Given the description of an element on the screen output the (x, y) to click on. 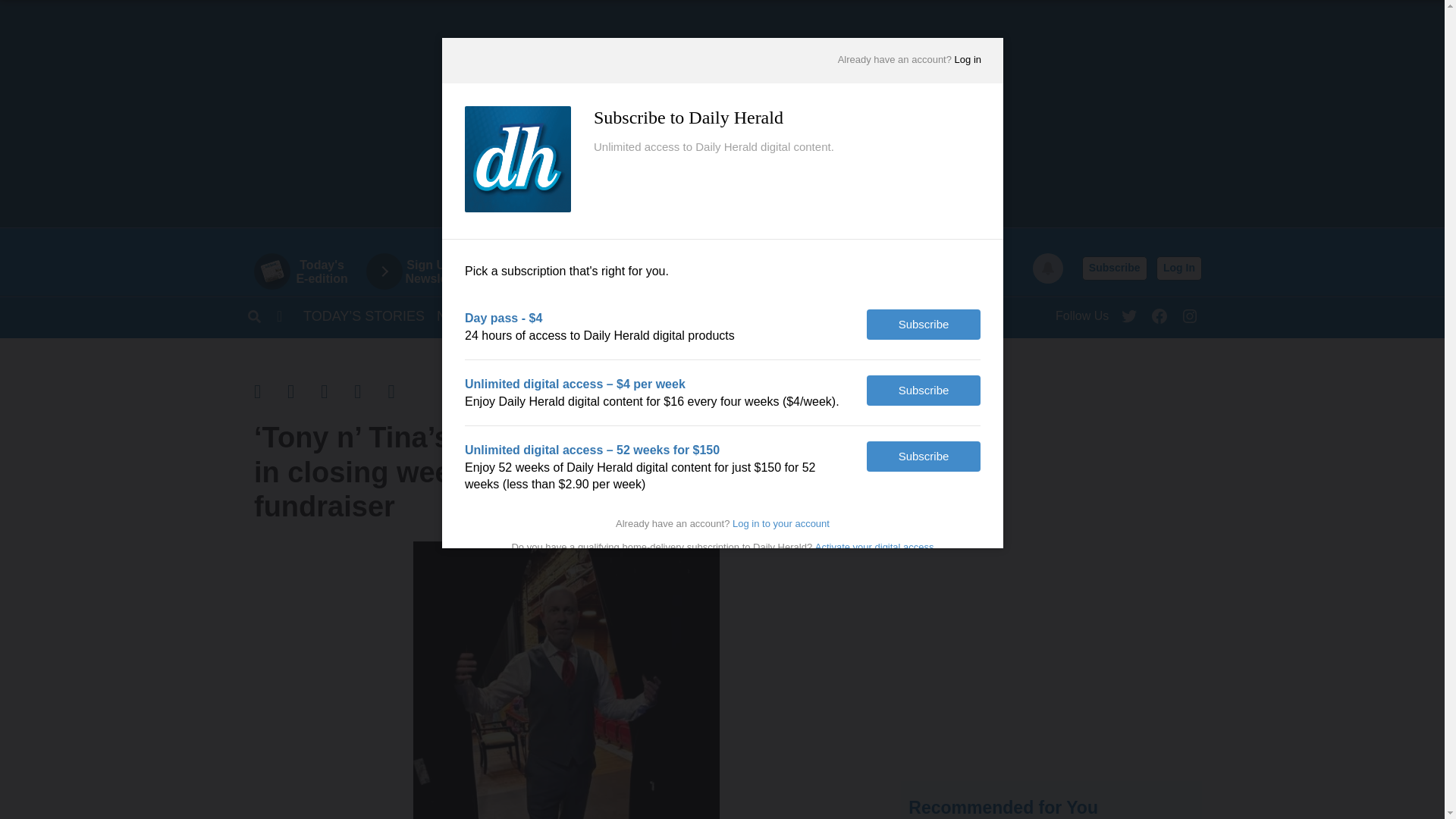
Sign Up for Newsletters (426, 271)
OBITUARIES (668, 315)
News (456, 315)
Obituaries (668, 315)
Lifestyle (966, 315)
Log In (1179, 268)
BUSINESS (757, 315)
Share via Email (336, 391)
LIFESTYLE (966, 315)
Today's Stories (363, 315)
ENTERTAINMENT (860, 315)
Sports (517, 315)
Facebook (1159, 312)
Opinion (586, 315)
Subscribe (1114, 268)
